Given the description of an element on the screen output the (x, y) to click on. 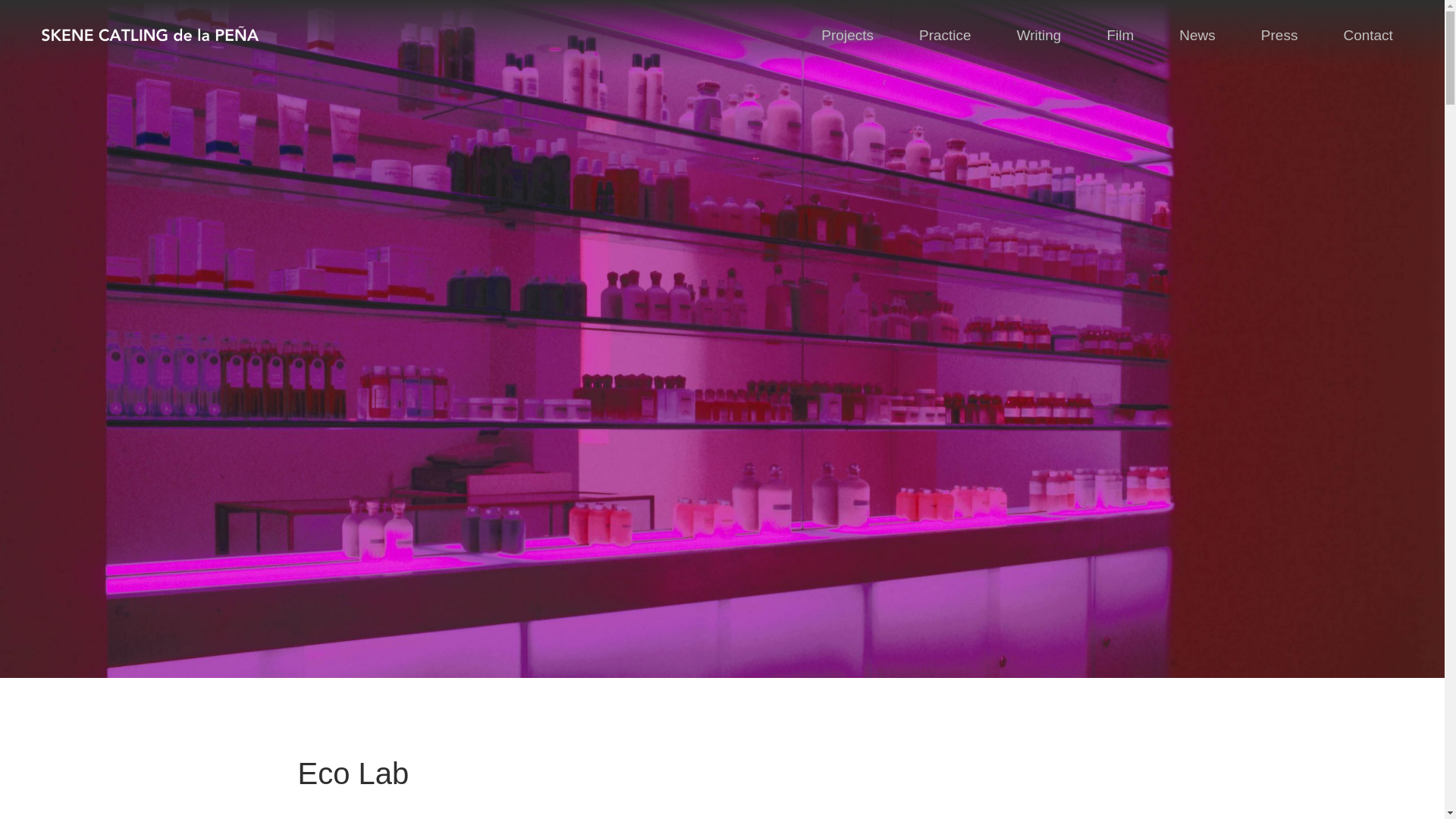
Film (1119, 34)
Press (1279, 34)
Writing (1039, 34)
Practice (945, 34)
Projects (847, 34)
Contact (1367, 34)
News (1196, 34)
